Given the description of an element on the screen output the (x, y) to click on. 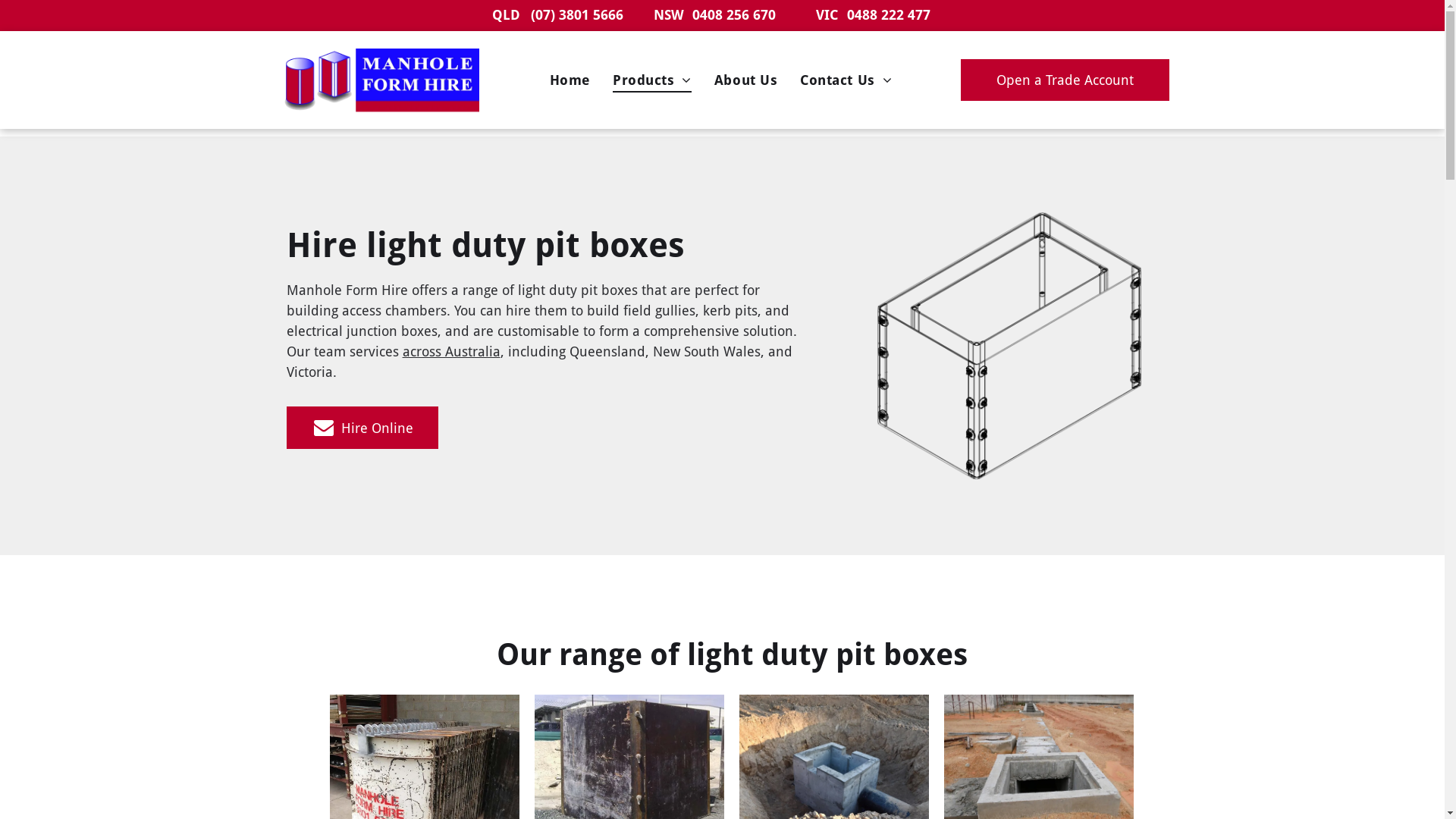
Hire Online Element type: text (362, 427)
Home Element type: text (569, 79)
About Us Element type: text (745, 79)
Contact Us Element type: text (845, 79)
Open a Trade Account Element type: text (1064, 79)
Products Element type: text (651, 79)
